Given the description of an element on the screen output the (x, y) to click on. 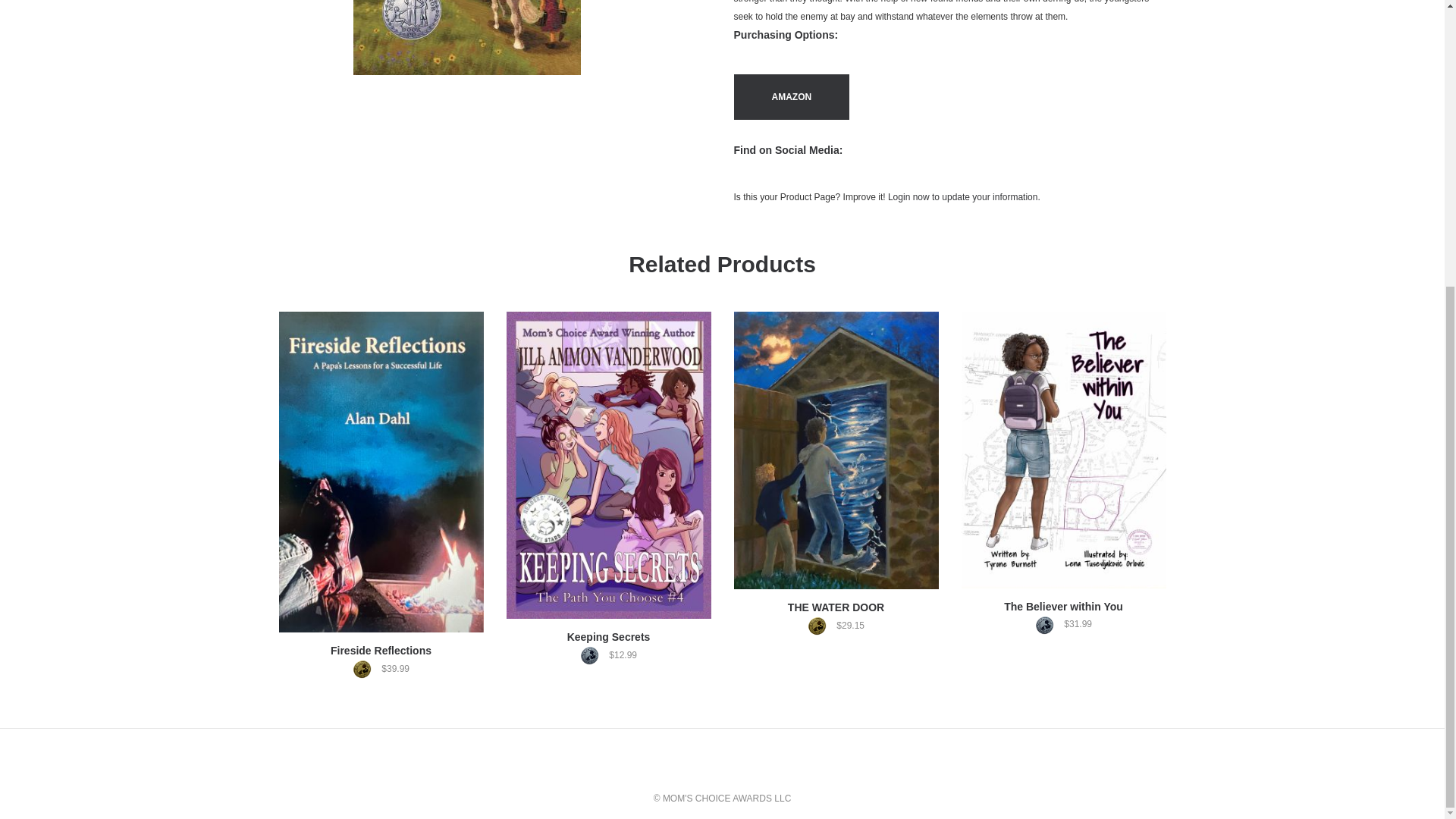
MCA Silver Award (1048, 624)
MCA Gold Award (821, 625)
MCA Gold Award (365, 669)
MCA Silver Award (593, 655)
